Given the description of an element on the screen output the (x, y) to click on. 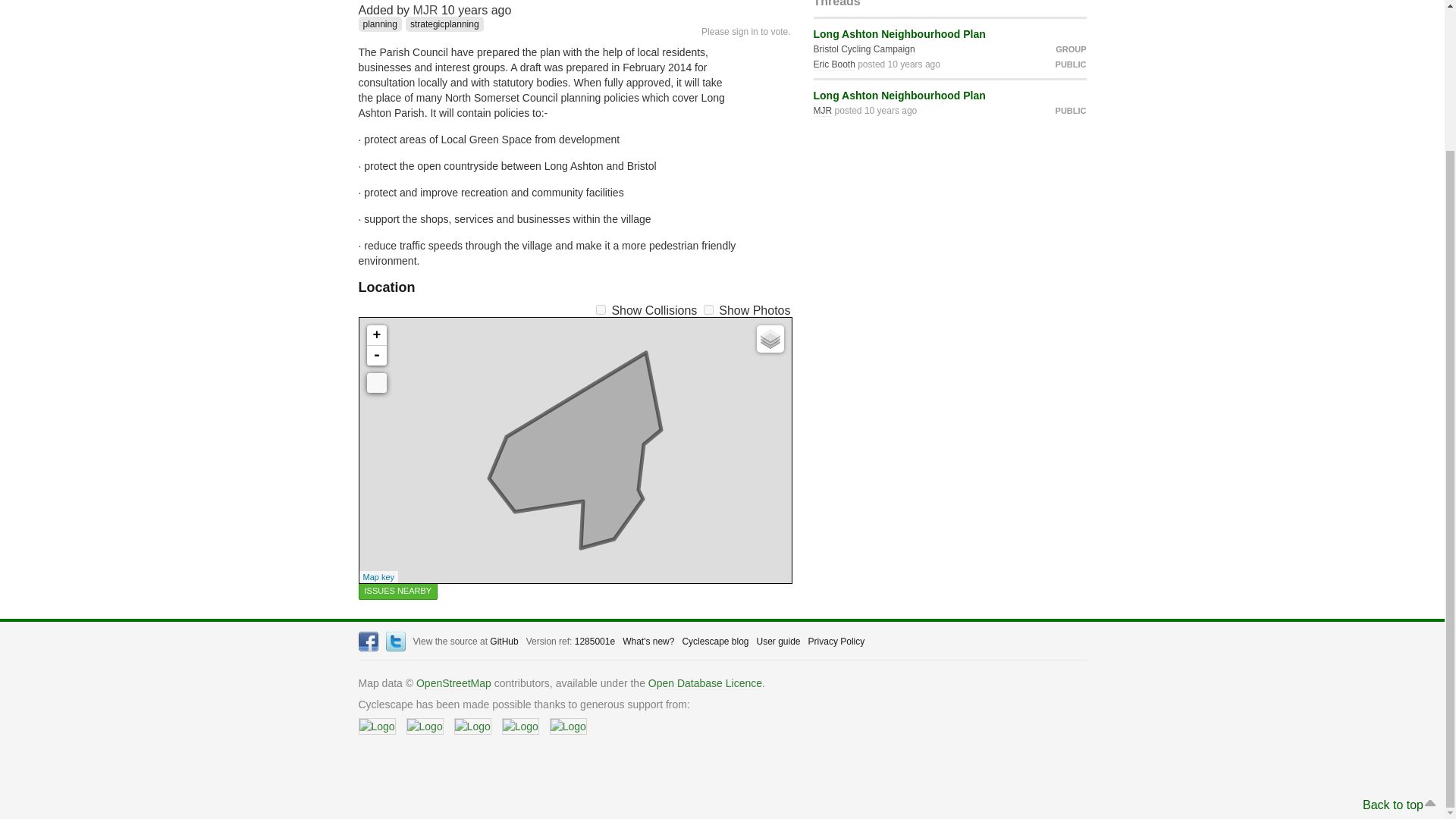
Eric Booth (833, 64)
Zoom out (376, 355)
User guide (778, 641)
Funding from Funding from Cycling UK (520, 726)
Long Ashton Neighbourhood Plan (898, 95)
1285001e (594, 641)
Cyclescape blog (714, 641)
22 August, 2014 11:32 (476, 10)
Funding from CycleStreets (376, 726)
Cyclescape Facebook page (367, 641)
